Given the description of an element on the screen output the (x, y) to click on. 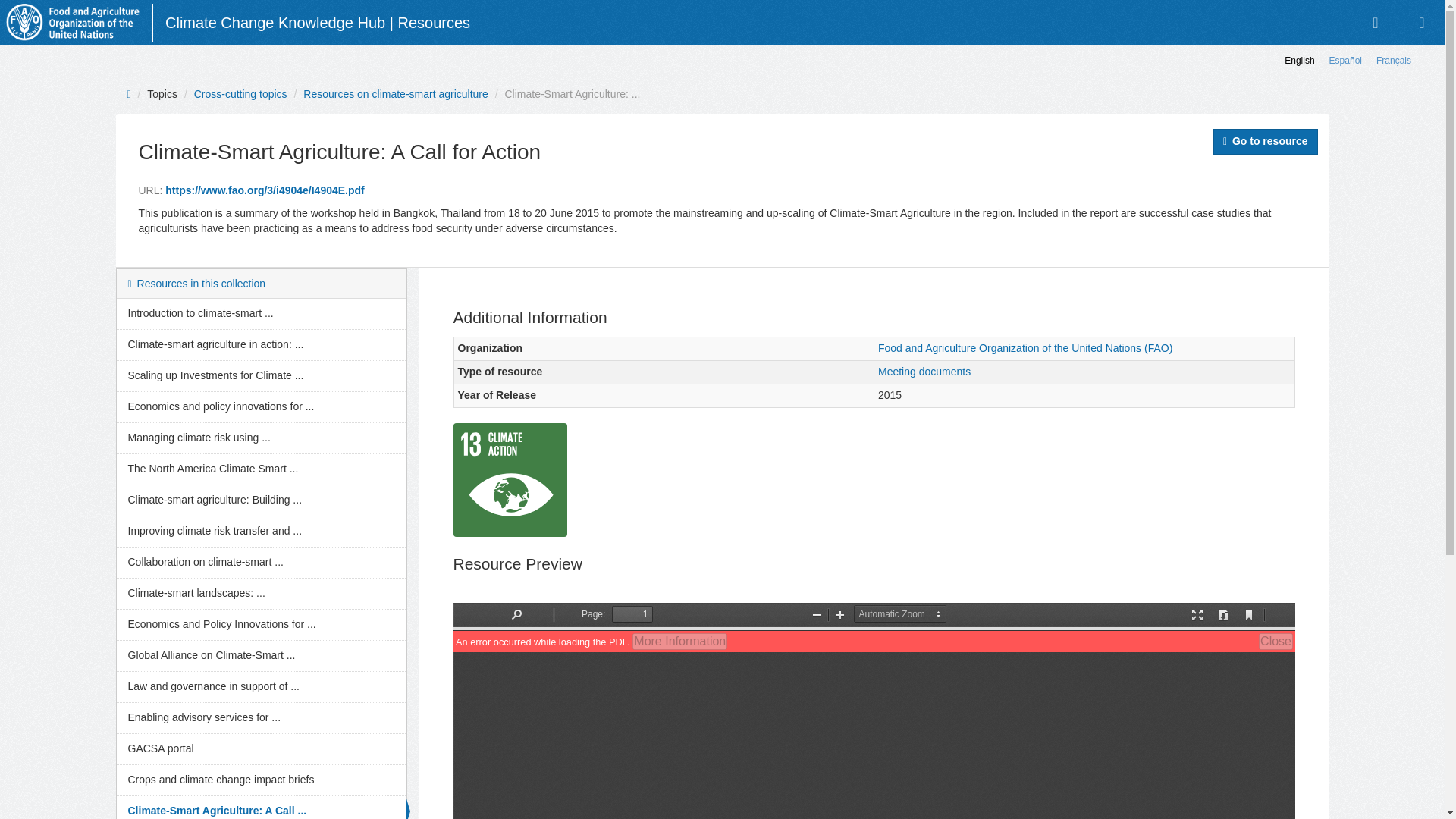
Climate-smart agriculture: Building ... (261, 500)
Log in (1374, 22)
Scaling up Investments for Climate ... (261, 376)
Go to resource (1264, 141)
Enabling advisory services for ... (261, 717)
Climate-smart landscapes: ... (261, 593)
Climate-Smart Agriculture: A Call ... (261, 807)
Meeting documents (924, 371)
Crops and climate change impact briefs (261, 779)
Climate-Smart Agriculture: ... (571, 93)
Resources on climate-smart agriculture (394, 93)
Global Alliance on Climate-Smart ... (261, 655)
Law and governance in support of ... (261, 686)
Resources on Climate Change (72, 22)
Climate-smart agriculture in action: ... (261, 345)
